Given the description of an element on the screen output the (x, y) to click on. 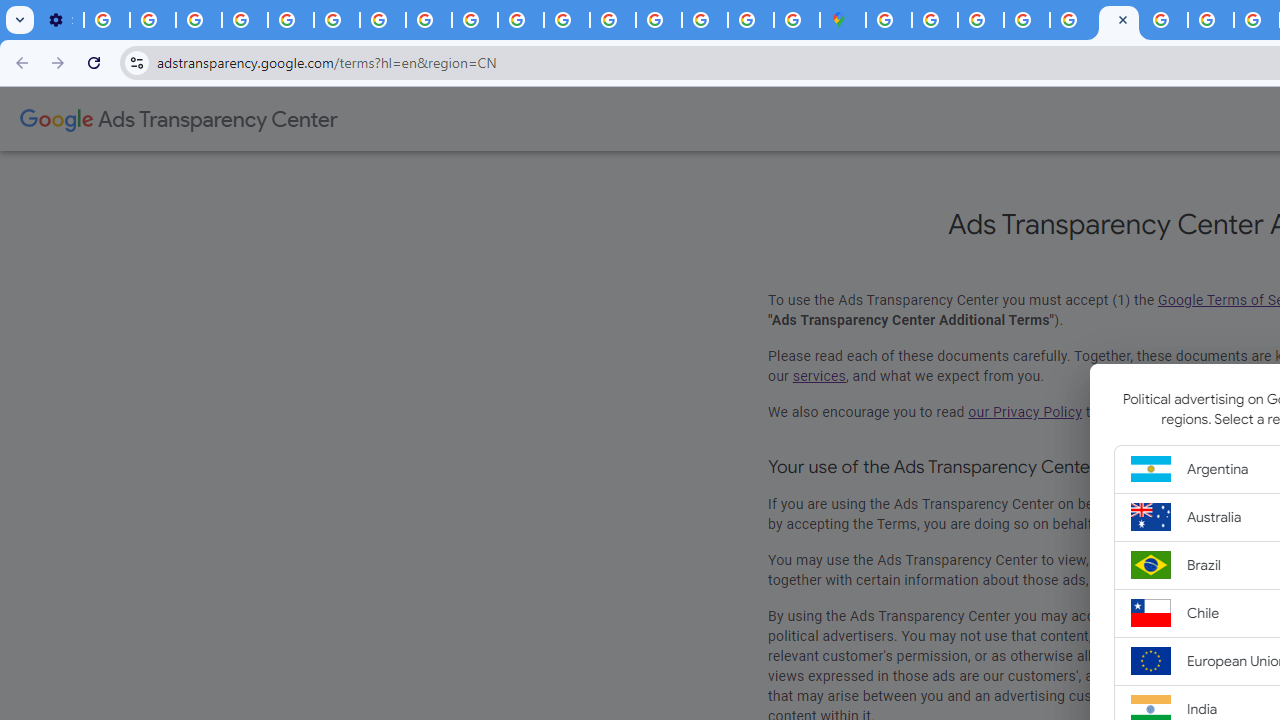
Delete photos & videos - Computer - Google Photos Help (107, 20)
Settings - Customize profile (60, 20)
